Given the description of an element on the screen output the (x, y) to click on. 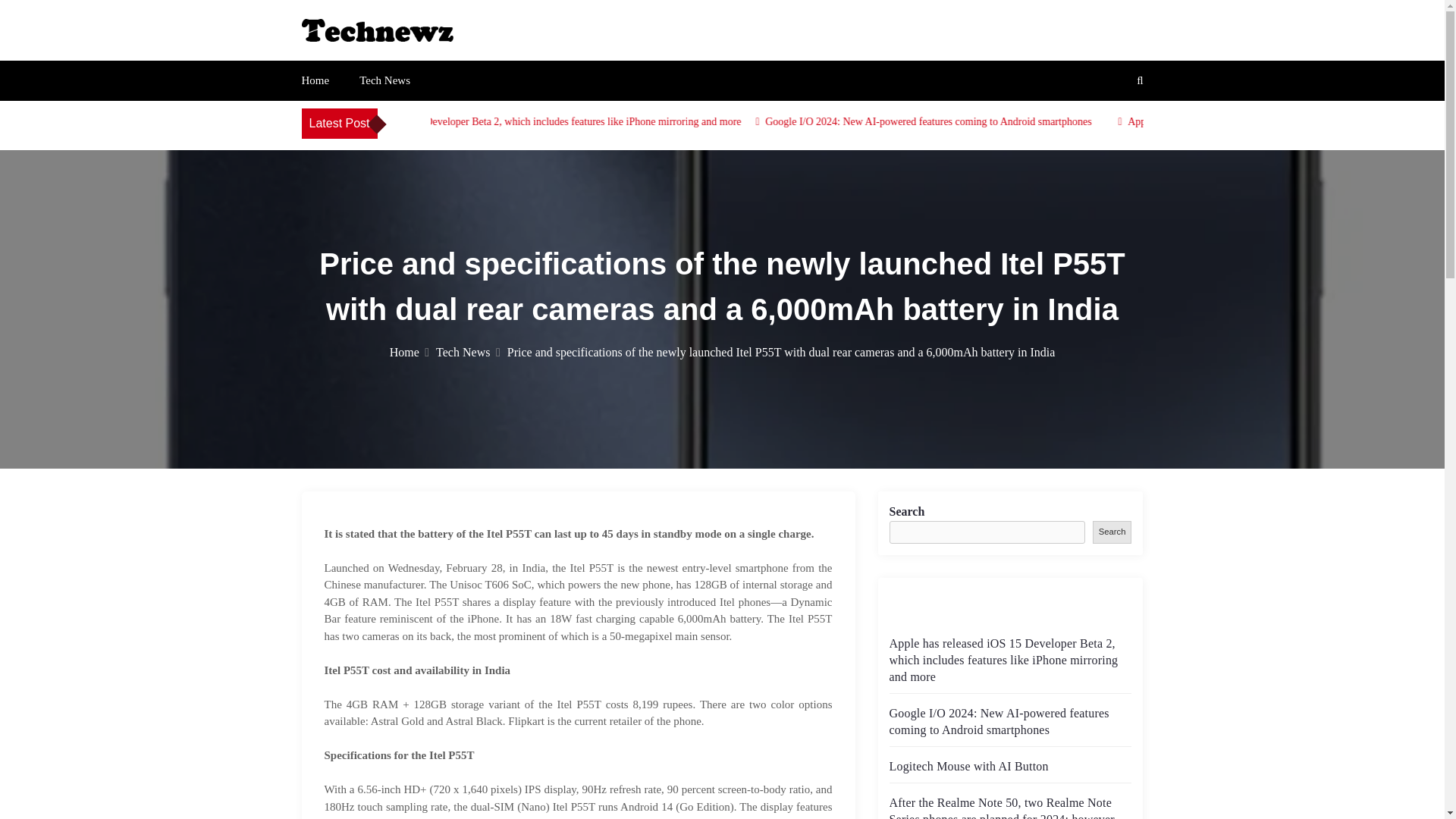
Tech News (384, 80)
Home (409, 351)
Search (1112, 532)
Tech News (467, 351)
Tech Newz (359, 58)
Logitech Mouse with AI Button (968, 766)
Home (315, 80)
